Given the description of an element on the screen output the (x, y) to click on. 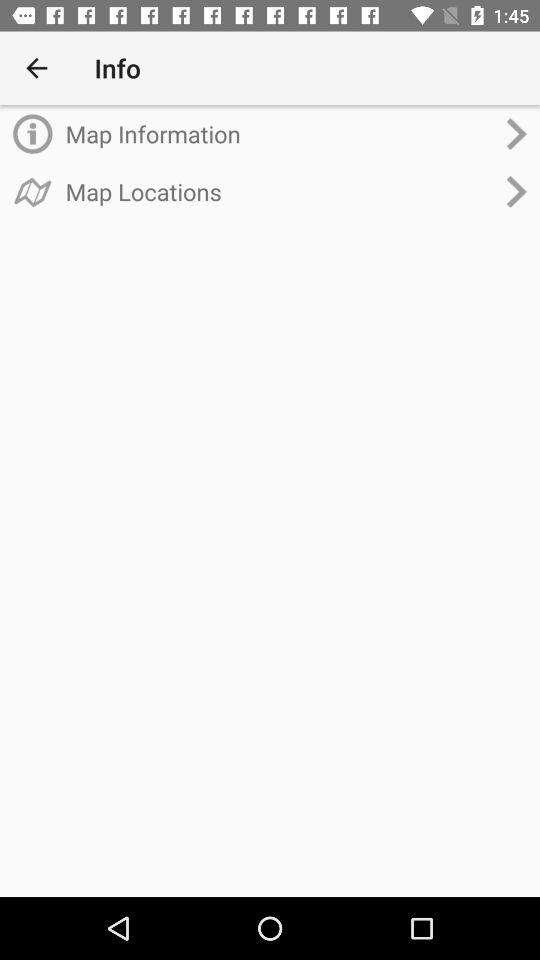
choose map information item (279, 134)
